Given the description of an element on the screen output the (x, y) to click on. 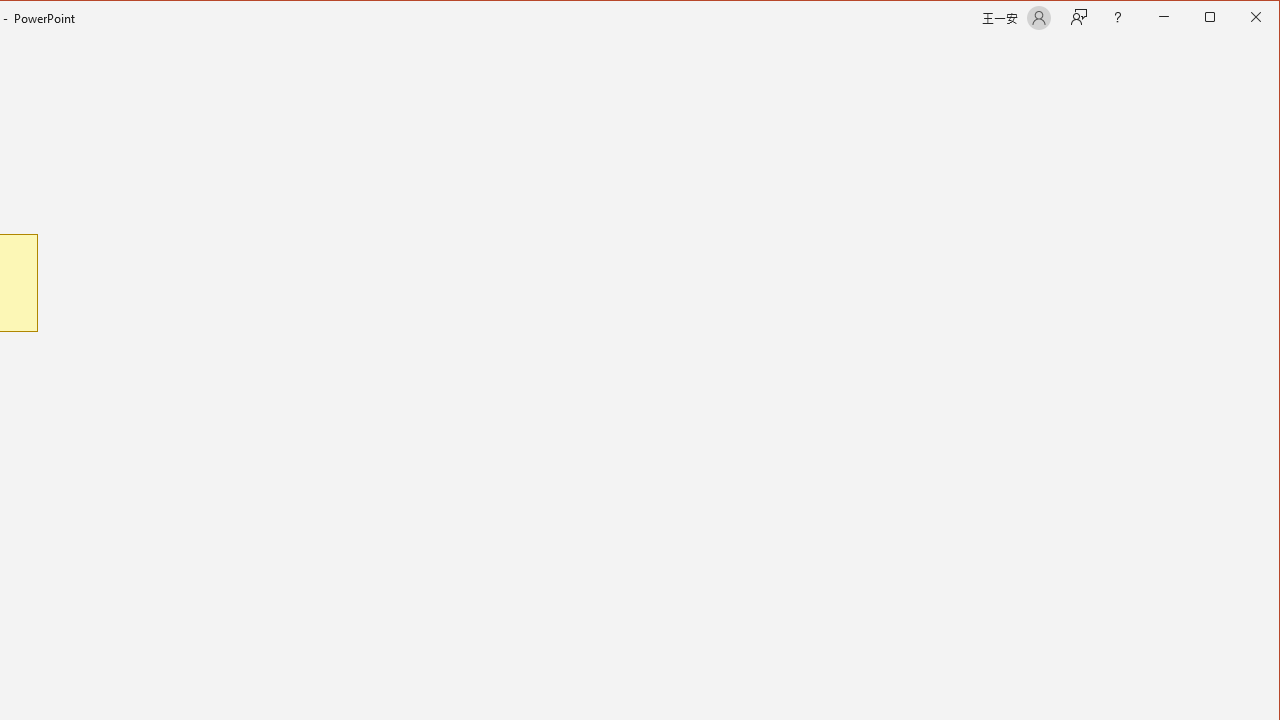
Maximize (1238, 18)
